Given the description of an element on the screen output the (x, y) to click on. 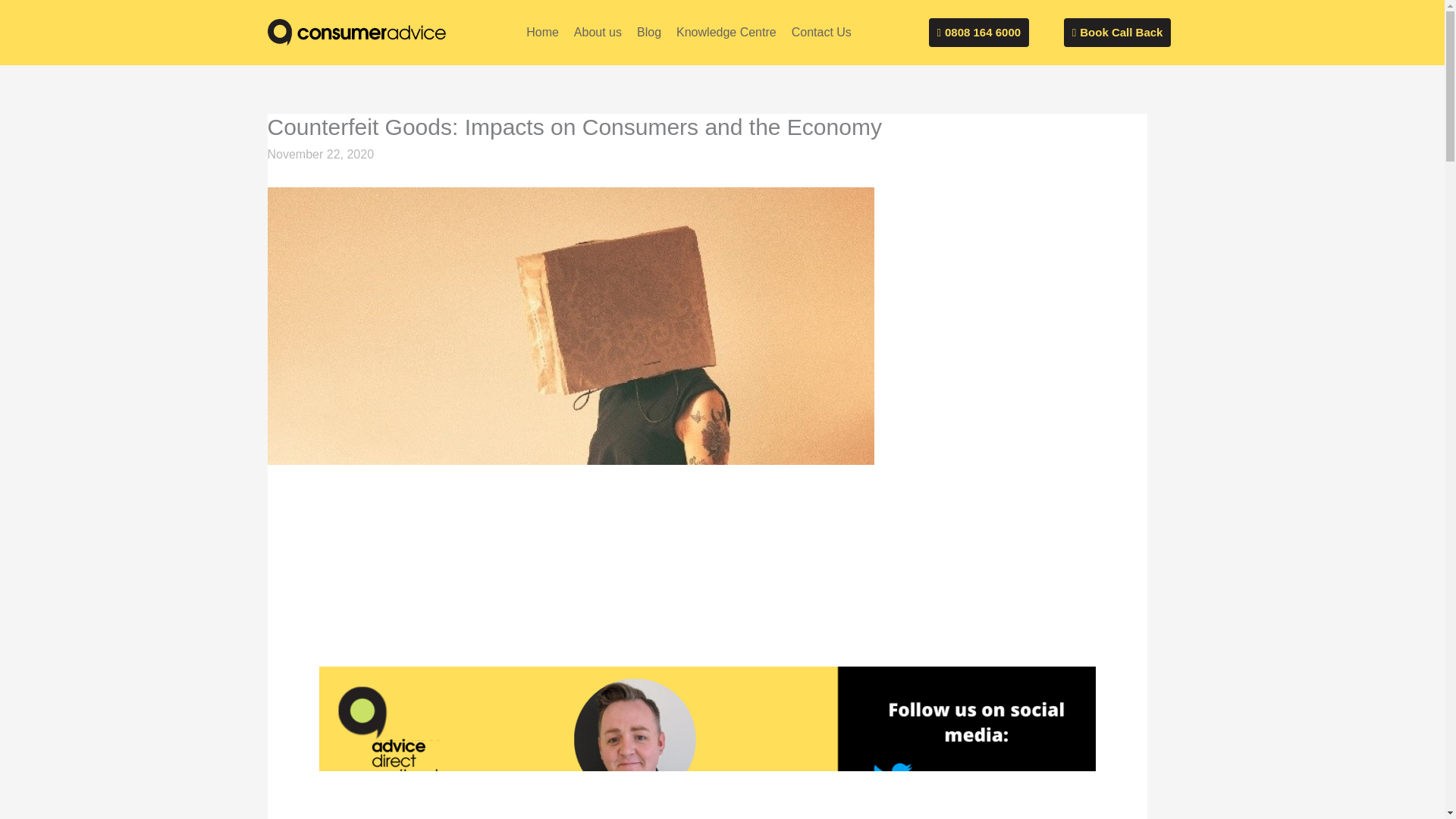
Knowledge Centre (726, 32)
0808 164 6000 (978, 32)
Blog (648, 32)
About us (597, 32)
Contact Us (821, 32)
Book Call Back (1118, 32)
Home (542, 32)
